Given the description of an element on the screen output the (x, y) to click on. 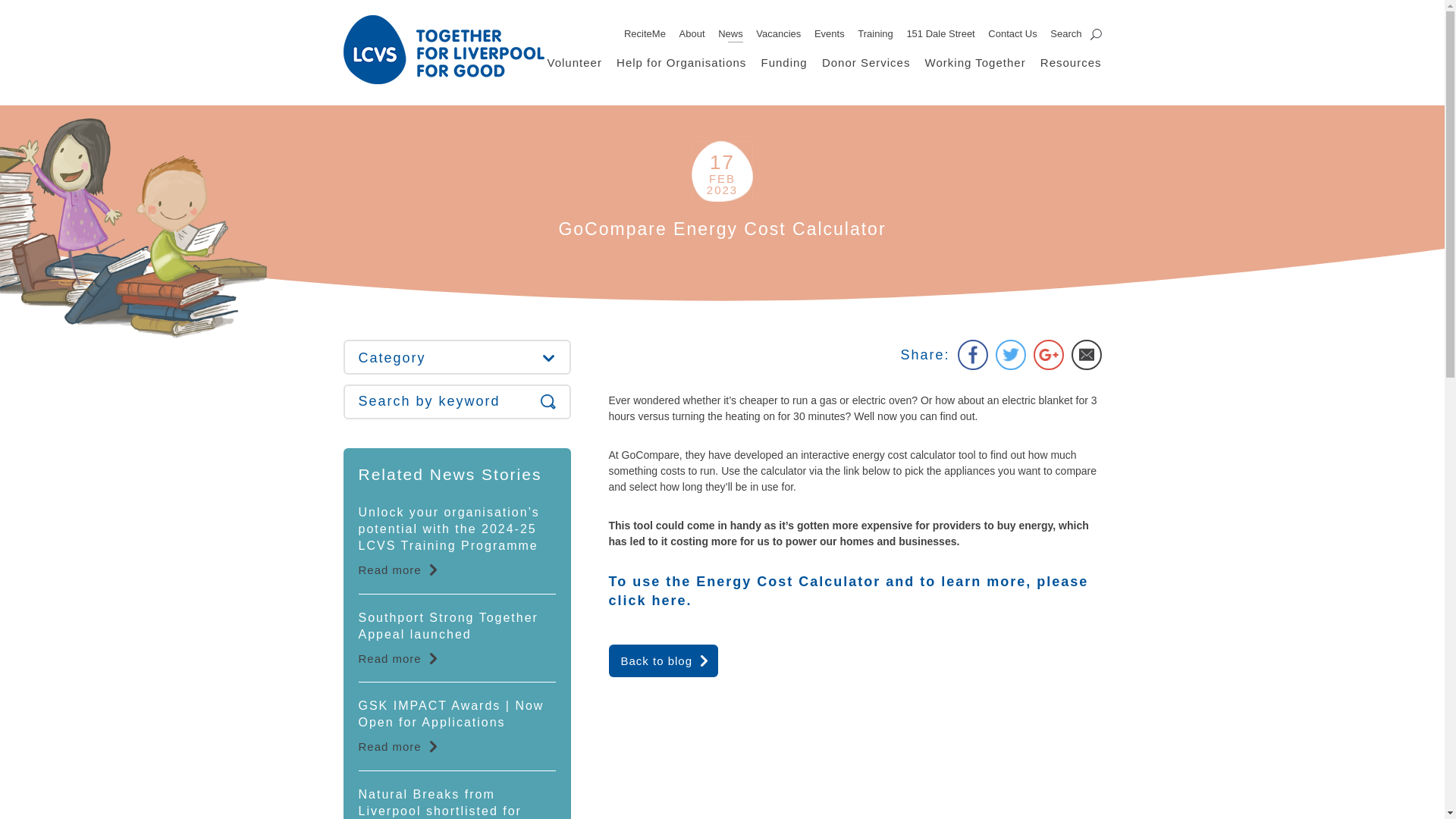
Help for Organisations (680, 62)
Back to blog (662, 660)
Training (874, 33)
News (729, 33)
Working Together (975, 62)
About (691, 33)
Donor Services (866, 62)
Resources (1071, 62)
Search (1074, 33)
151 Dale Street (939, 33)
Funding (784, 62)
Contact Us (1012, 33)
Volunteer (574, 62)
Events (828, 33)
Vacancies (777, 33)
